Given the description of an element on the screen output the (x, y) to click on. 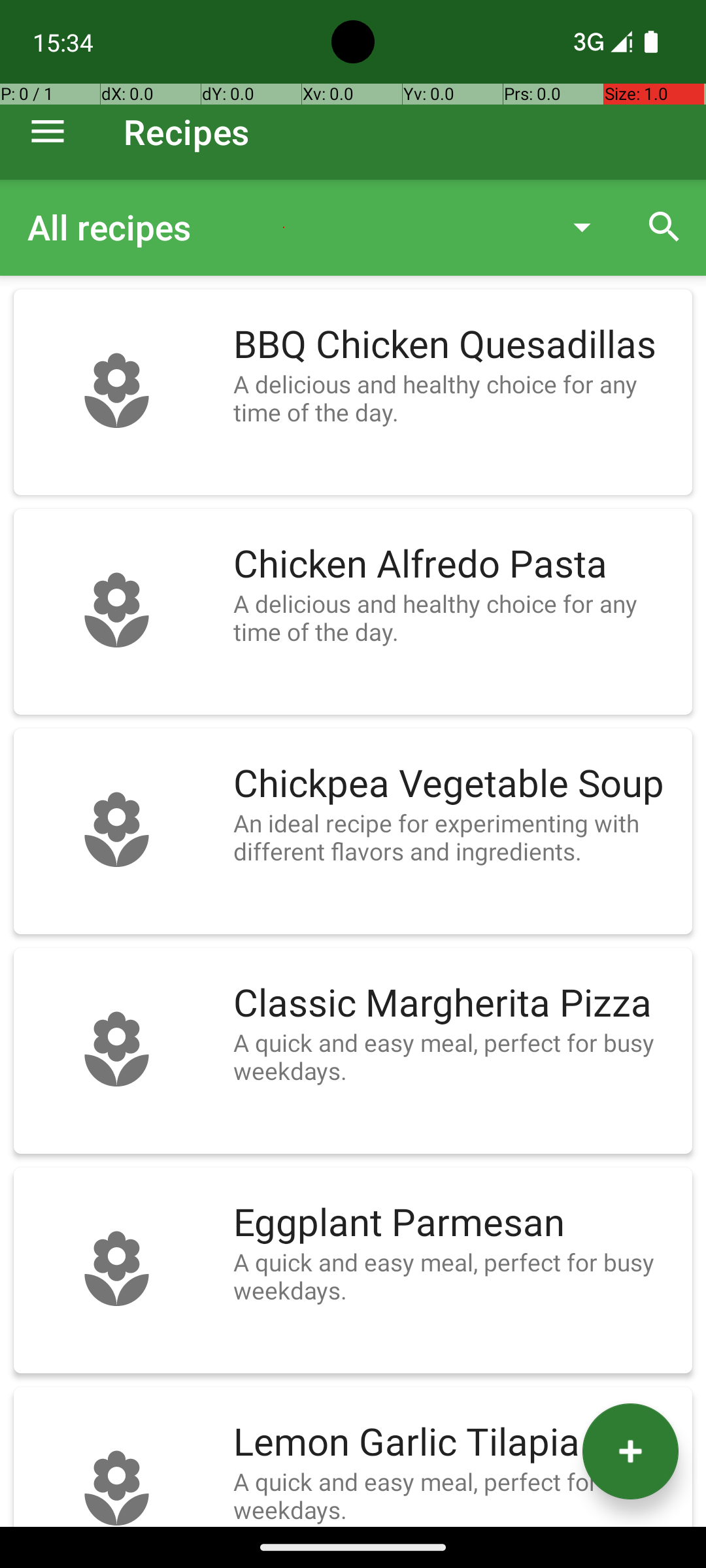
BBQ Chicken Quesadillas Element type: android.widget.TextView (455, 344)
Chickpea Vegetable Soup Element type: android.widget.TextView (455, 783)
Classic Margherita Pizza Element type: android.widget.TextView (455, 1003)
Lemon Garlic Tilapia Element type: android.widget.TextView (455, 1442)
